Given the description of an element on the screen output the (x, y) to click on. 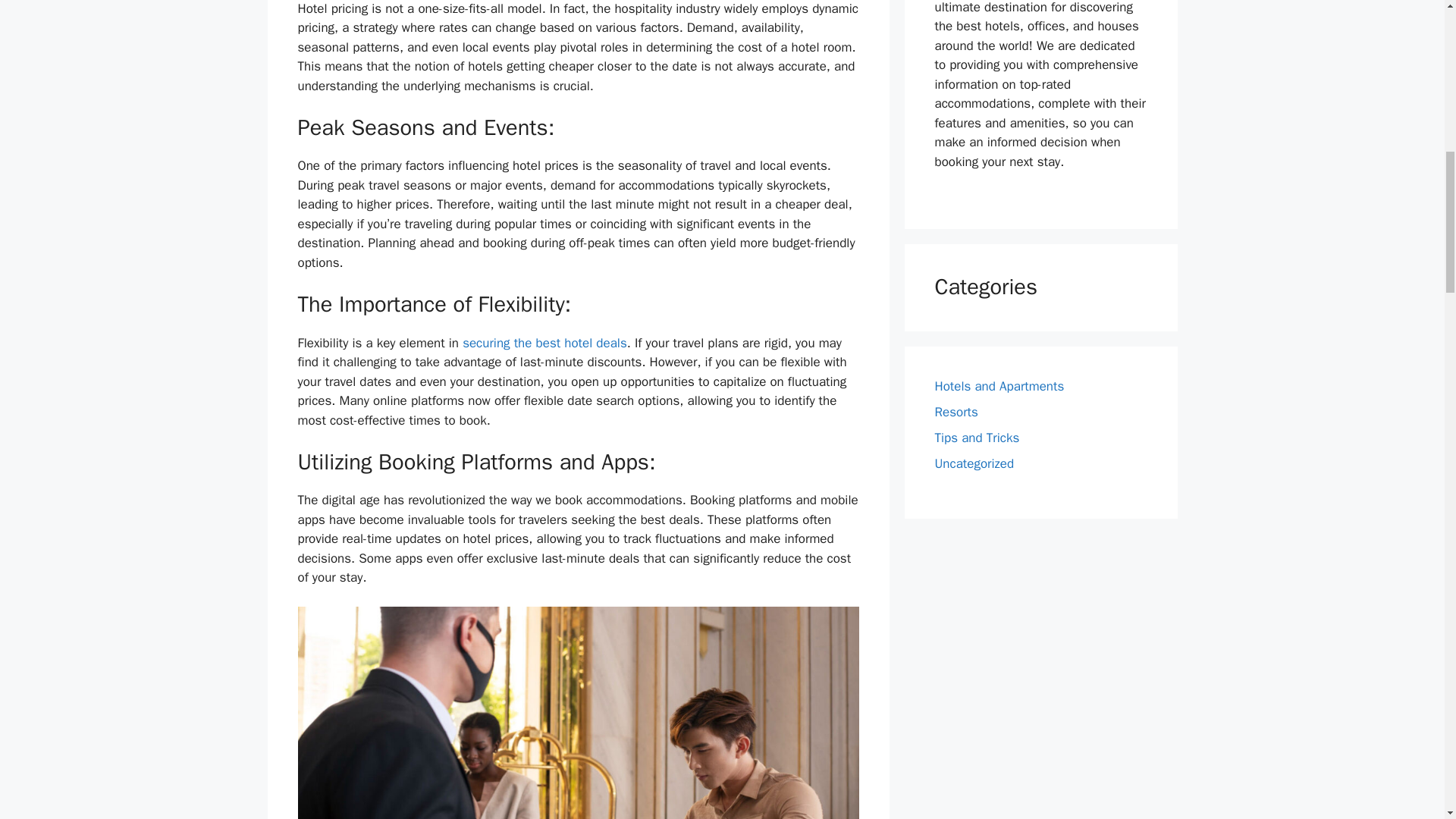
Uncategorized (973, 463)
securing the best hotel deals (545, 342)
Hotels and Apartments (999, 385)
Tips and Tricks (976, 437)
Resorts (955, 412)
